Given the description of an element on the screen output the (x, y) to click on. 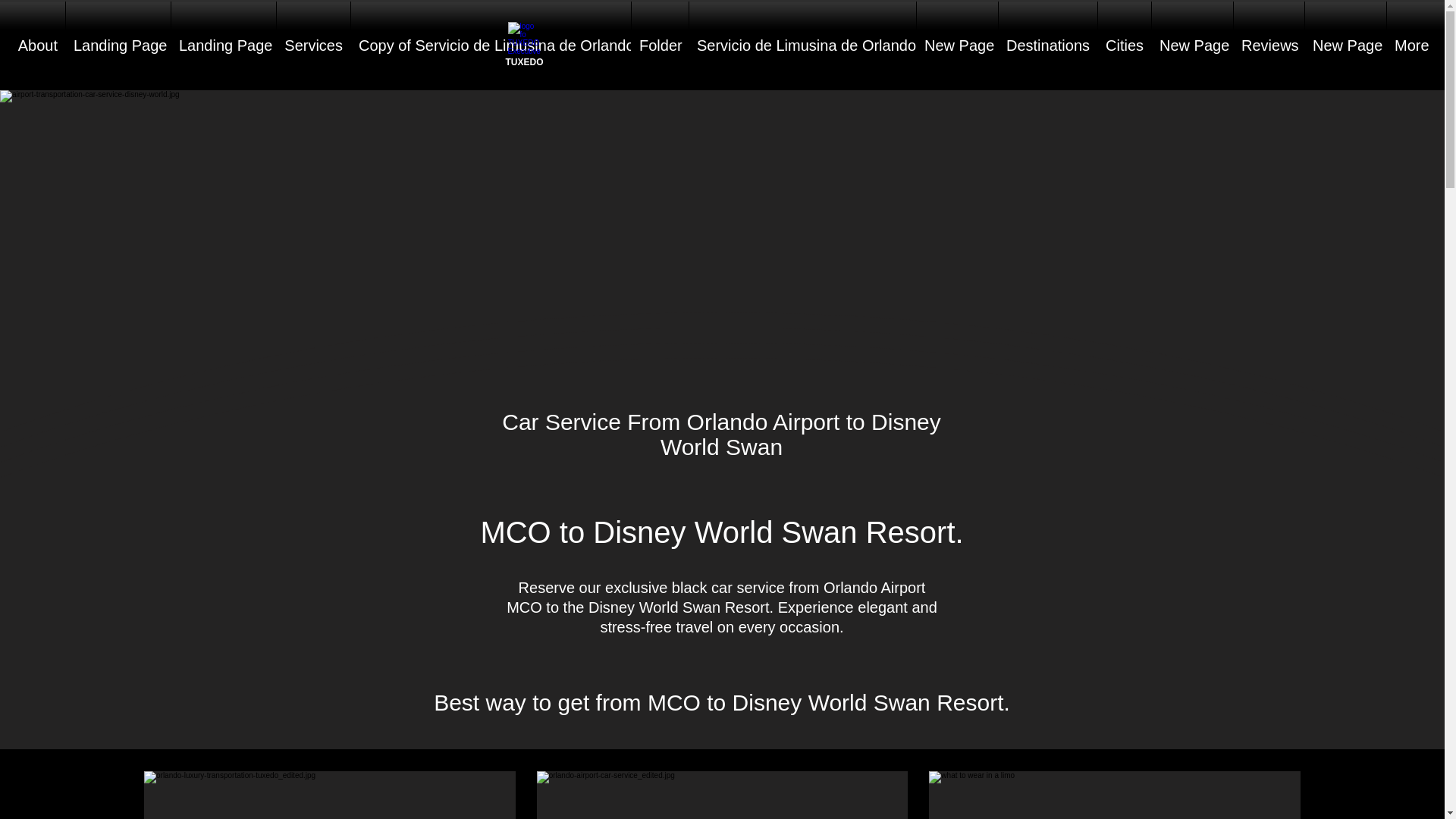
Destinations (1047, 45)
logo fo TUXEDO Executive Limousine and Car Service (524, 38)
New Page (957, 45)
Landing Page (117, 45)
Copy of Servicio de Limusina de Orlando (490, 45)
Landing Page (223, 45)
Servicio de Limusina de Orlando (801, 45)
